Given the description of an element on the screen output the (x, y) to click on. 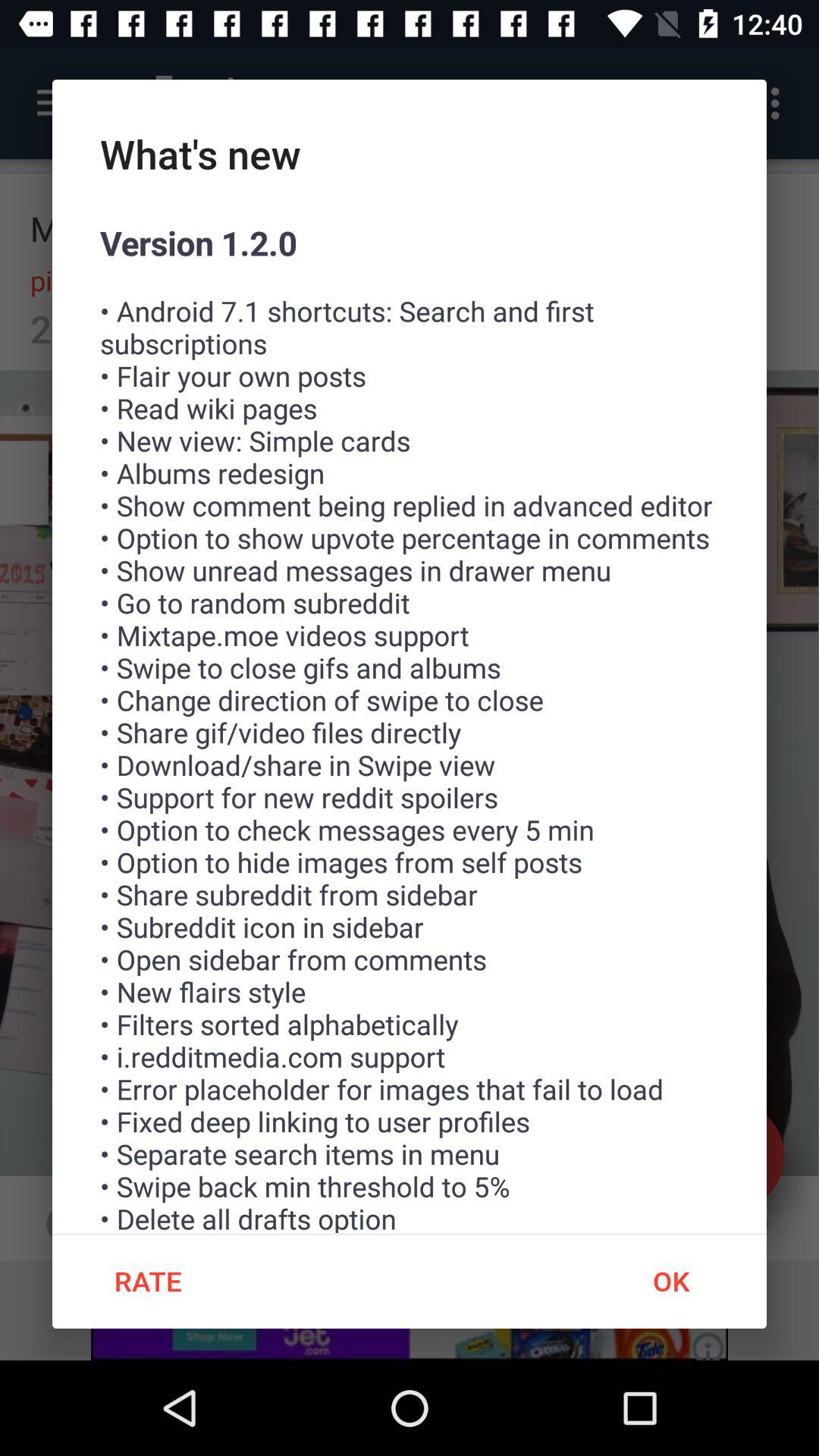
open the icon to the left of ok (147, 1280)
